Given the description of an element on the screen output the (x, y) to click on. 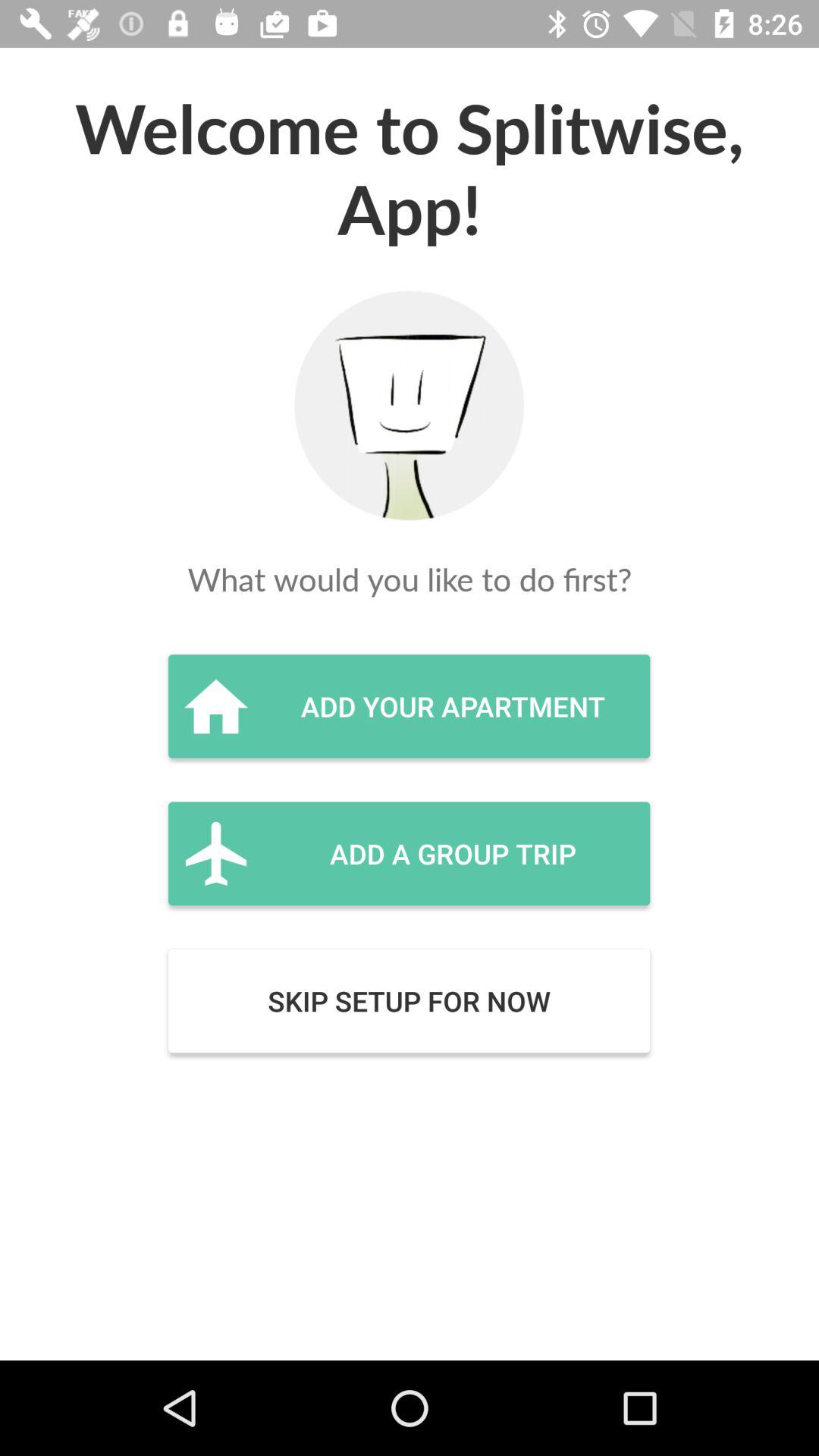
swipe until the skip setup for item (409, 1000)
